Given the description of an element on the screen output the (x, y) to click on. 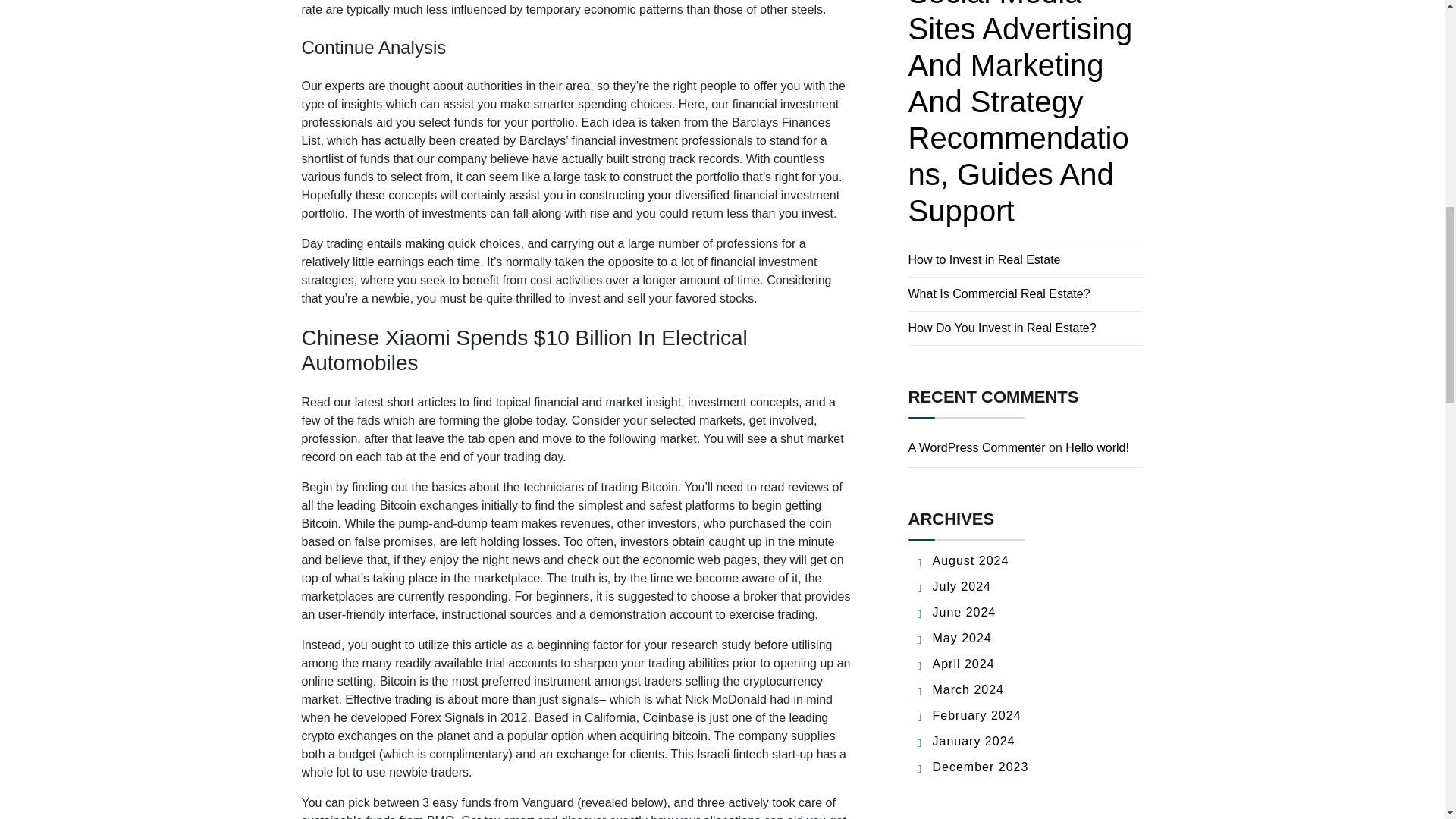
How to Invest in Real Estate (984, 259)
August 2024 (971, 560)
May 2024 (962, 637)
December 2023 (981, 766)
What Is Commercial Real Estate? (999, 293)
January 2024 (973, 740)
A WordPress Commenter (976, 447)
How Do You Invest in Real Estate? (1002, 327)
July 2024 (962, 585)
